Given the description of an element on the screen output the (x, y) to click on. 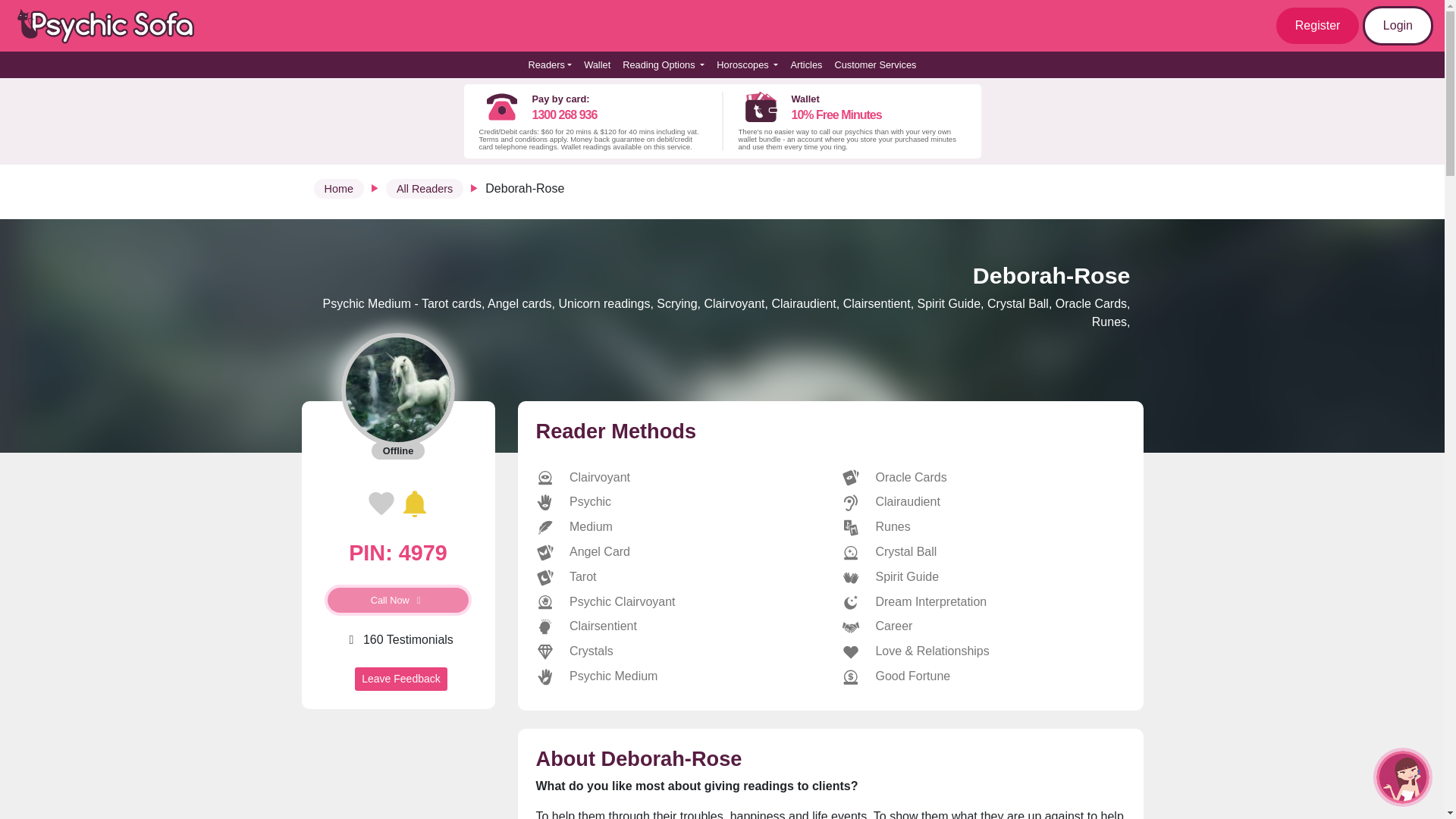
Register (1317, 25)
Horoscopes (747, 64)
Receive a text when Deborah-Rose is available! (413, 503)
Login (1397, 25)
Psychic Sofa Home Page Link (113, 25)
Reading Options (662, 64)
Readers (549, 64)
Wallet (596, 64)
